Given the description of an element on the screen output the (x, y) to click on. 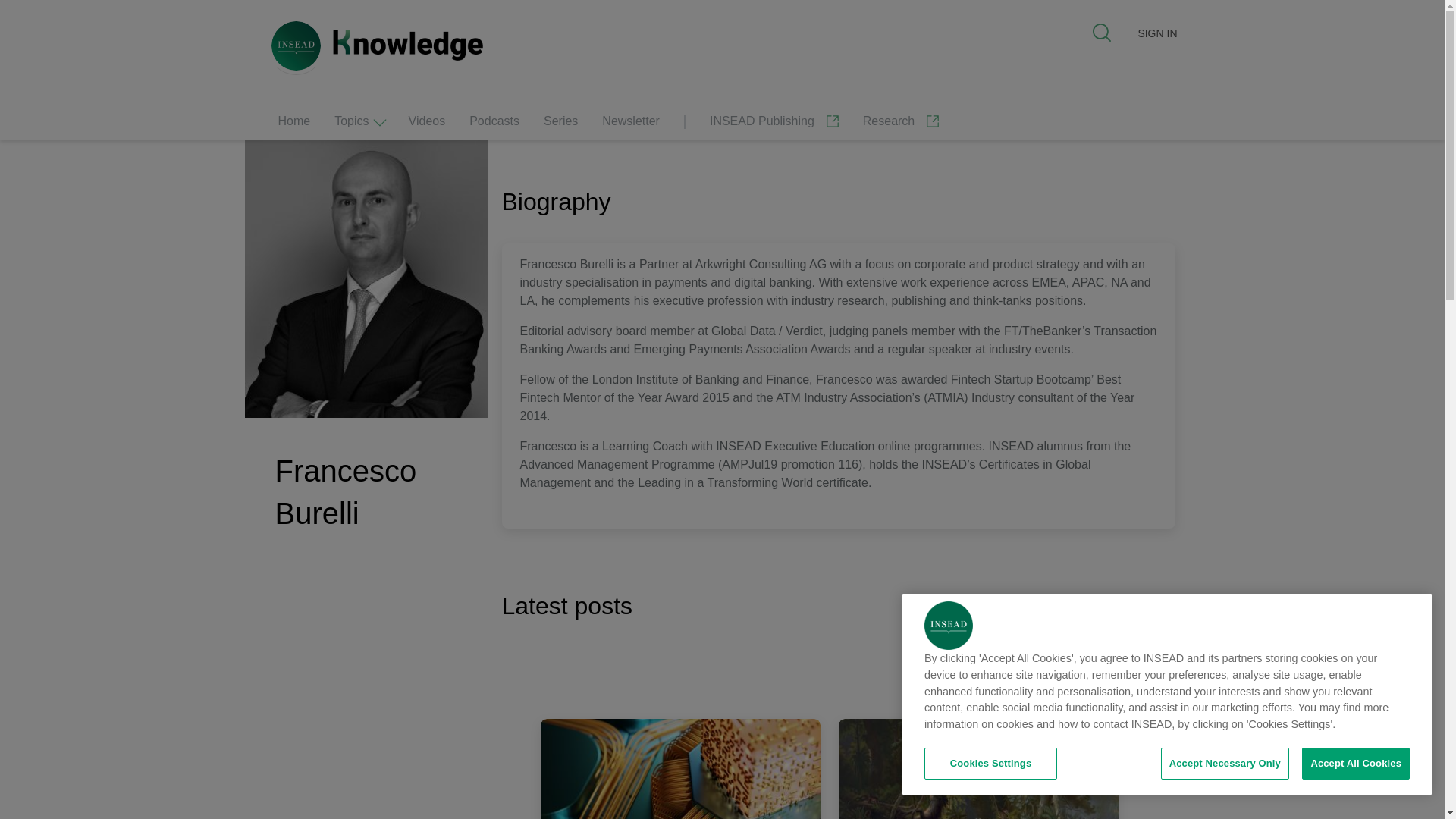
Company Logo (948, 625)
Home (294, 125)
Series (560, 125)
Podcasts (493, 125)
Apply (40, 21)
INSEAD Publishing (774, 125)
Research (901, 125)
Videos (427, 125)
Newsletter (630, 125)
